Given the description of an element on the screen output the (x, y) to click on. 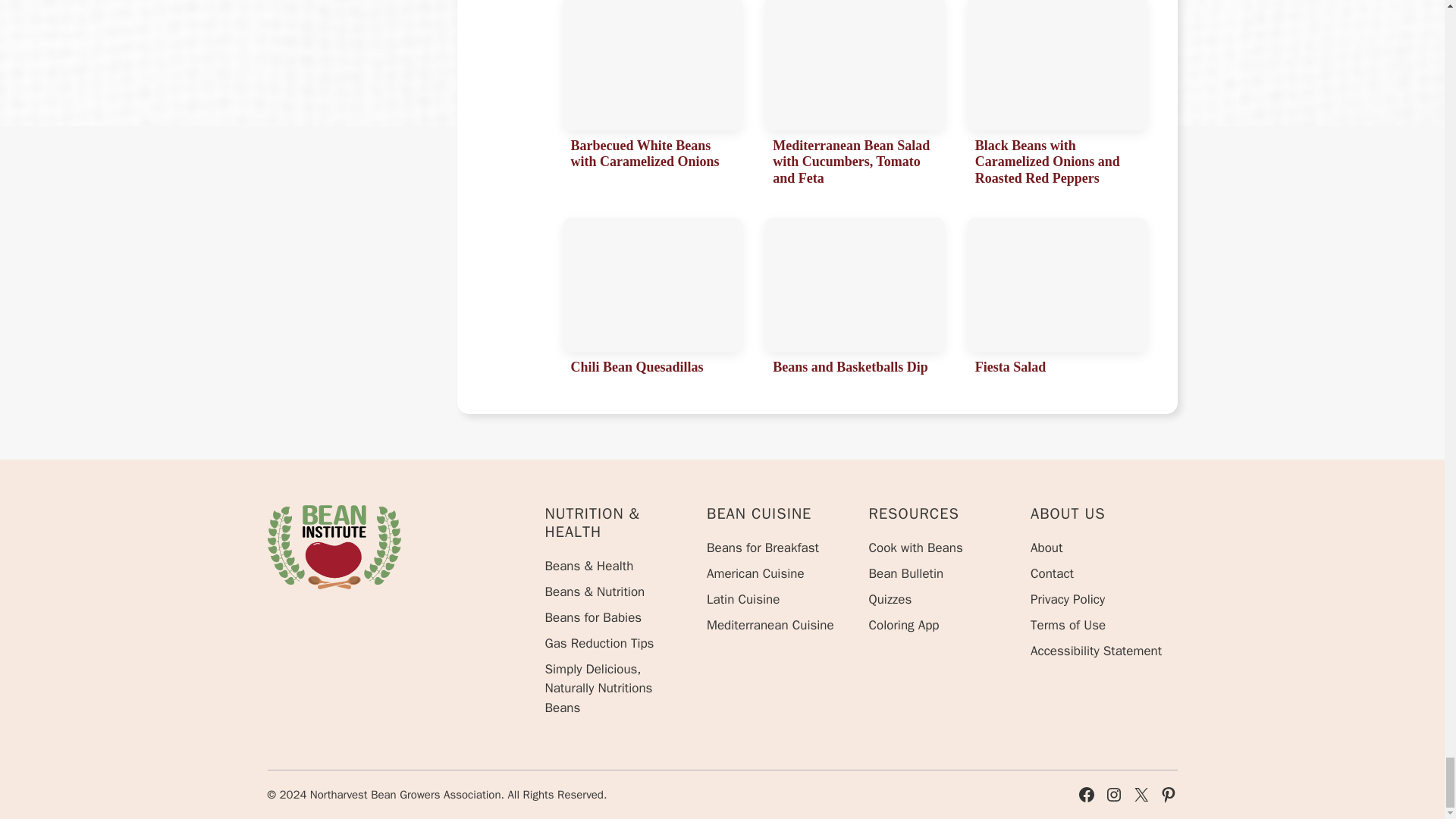
Barbecued White Beans with Caramelized Onions (652, 97)
Beans and Basketballs Dip (854, 300)
Black Beans with Caramelized Onions and Roasted Red Peppers (1057, 97)
Chili Bean Quesadillas (652, 300)
Mediterranean Bean Salad with Cucumbers, Tomato and Feta (854, 97)
Fiesta Salad (1057, 300)
